Given the description of an element on the screen output the (x, y) to click on. 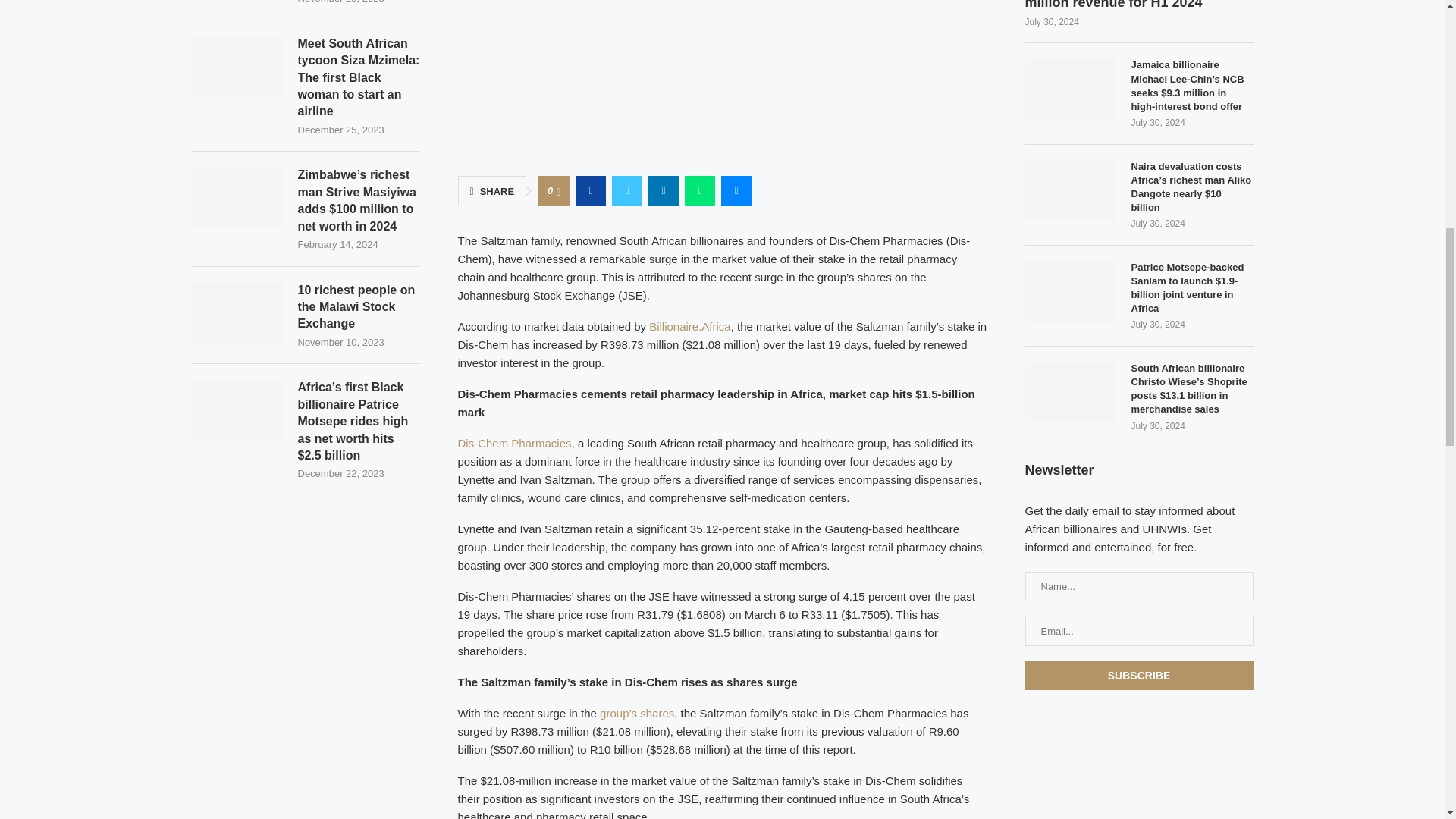
Ivan Saltzman (722, 78)
Subscribe (1139, 675)
